Given the description of an element on the screen output the (x, y) to click on. 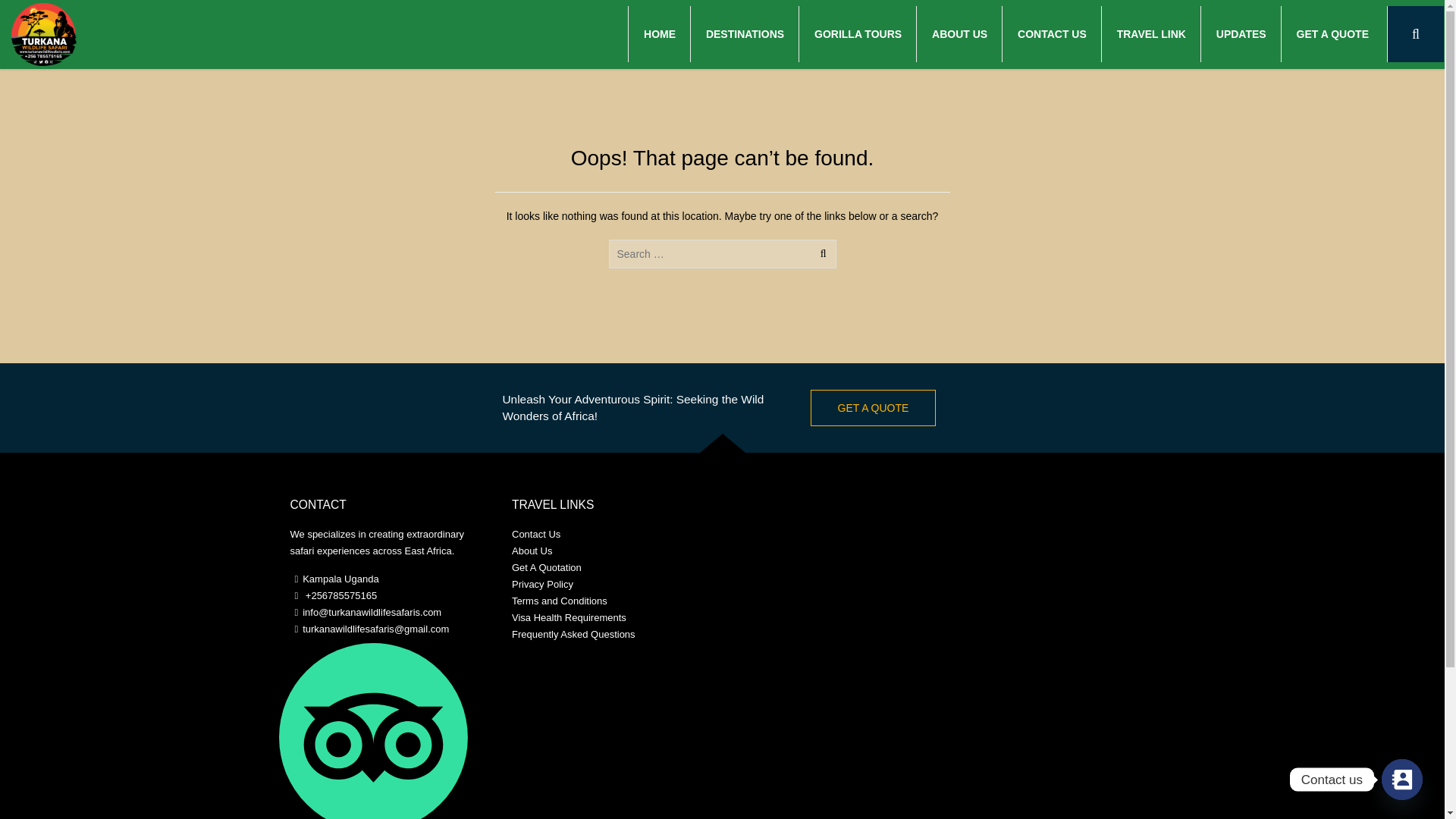
Get A Quotation (546, 567)
Search (29, 6)
Frequently Asked Questions (573, 633)
About Us (531, 550)
CONTACT US (1051, 33)
GET A QUOTE (1332, 33)
Visa Health Requirements (569, 617)
Tukana Wild Safaris - African Safari (44, 32)
Contact us (1401, 779)
DESTINATIONS (745, 33)
GORILLA TOURS (857, 33)
TRAVEL LINK (1151, 33)
Privacy Policy (542, 583)
Contact Us (536, 533)
Terms and Conditions (559, 600)
